Given the description of an element on the screen output the (x, y) to click on. 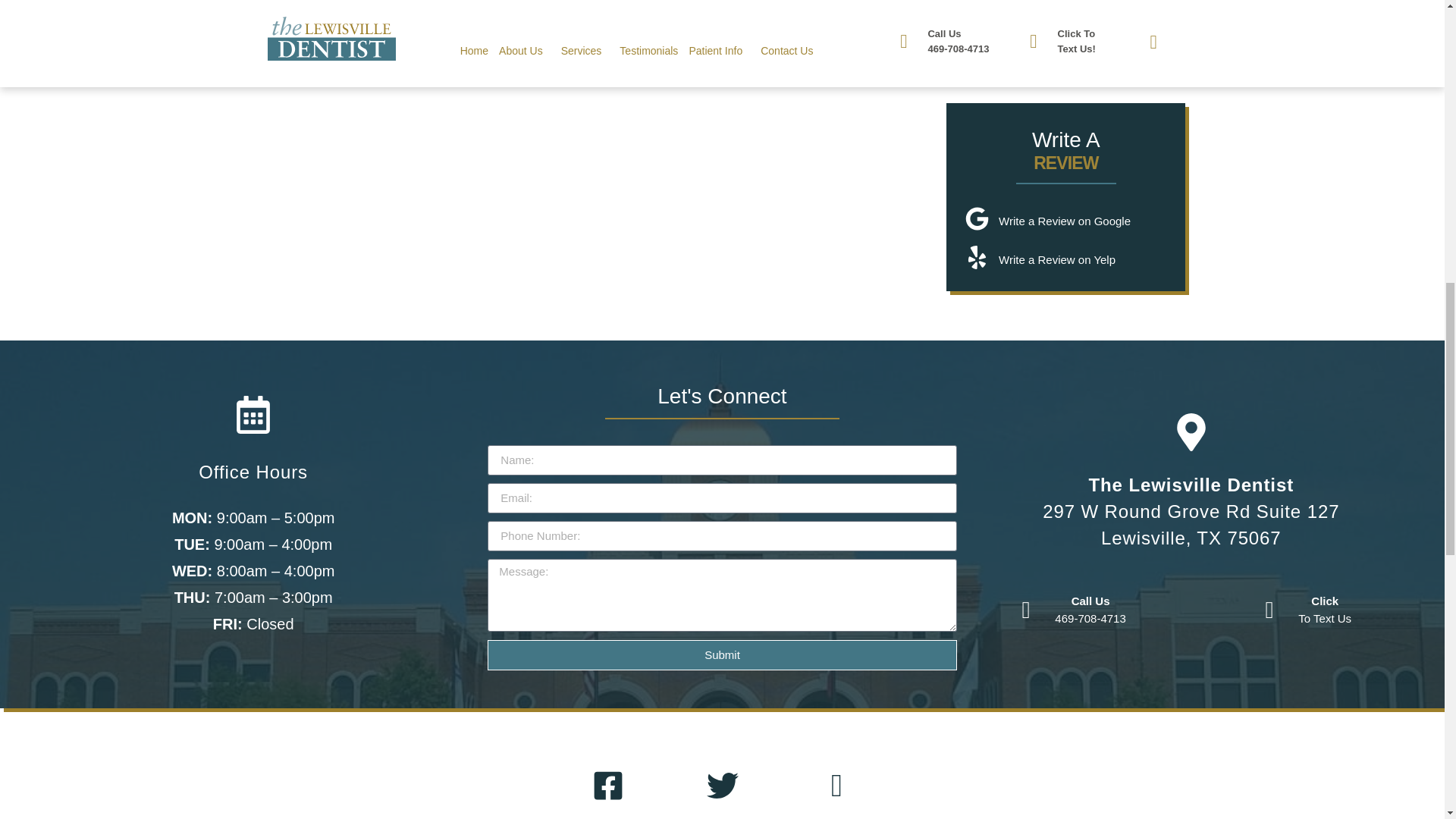
Directions to The Lewisville Dentist (1190, 432)
